Given the description of an element on the screen output the (x, y) to click on. 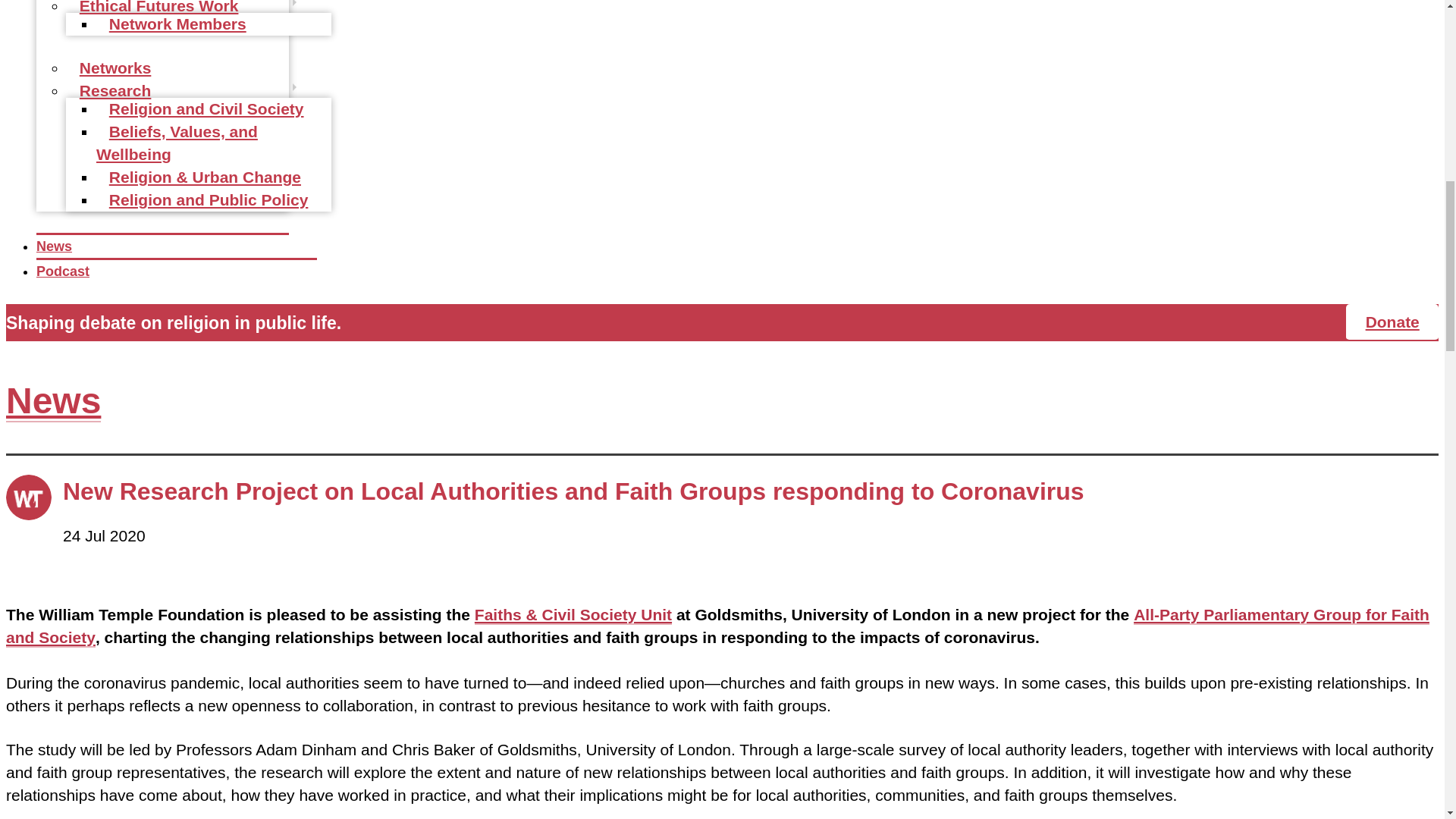
Religion and Civil Society (205, 109)
Beliefs, Values, and Wellbeing (176, 143)
Research (114, 91)
Podcast (62, 271)
Religion and Public Policy (208, 200)
All-Party Parliamentary Group for Faith and Society (717, 626)
Network Members (177, 24)
News (53, 246)
Networks (114, 68)
Ethical Futures Work (158, 10)
News (52, 401)
